Given the description of an element on the screen output the (x, y) to click on. 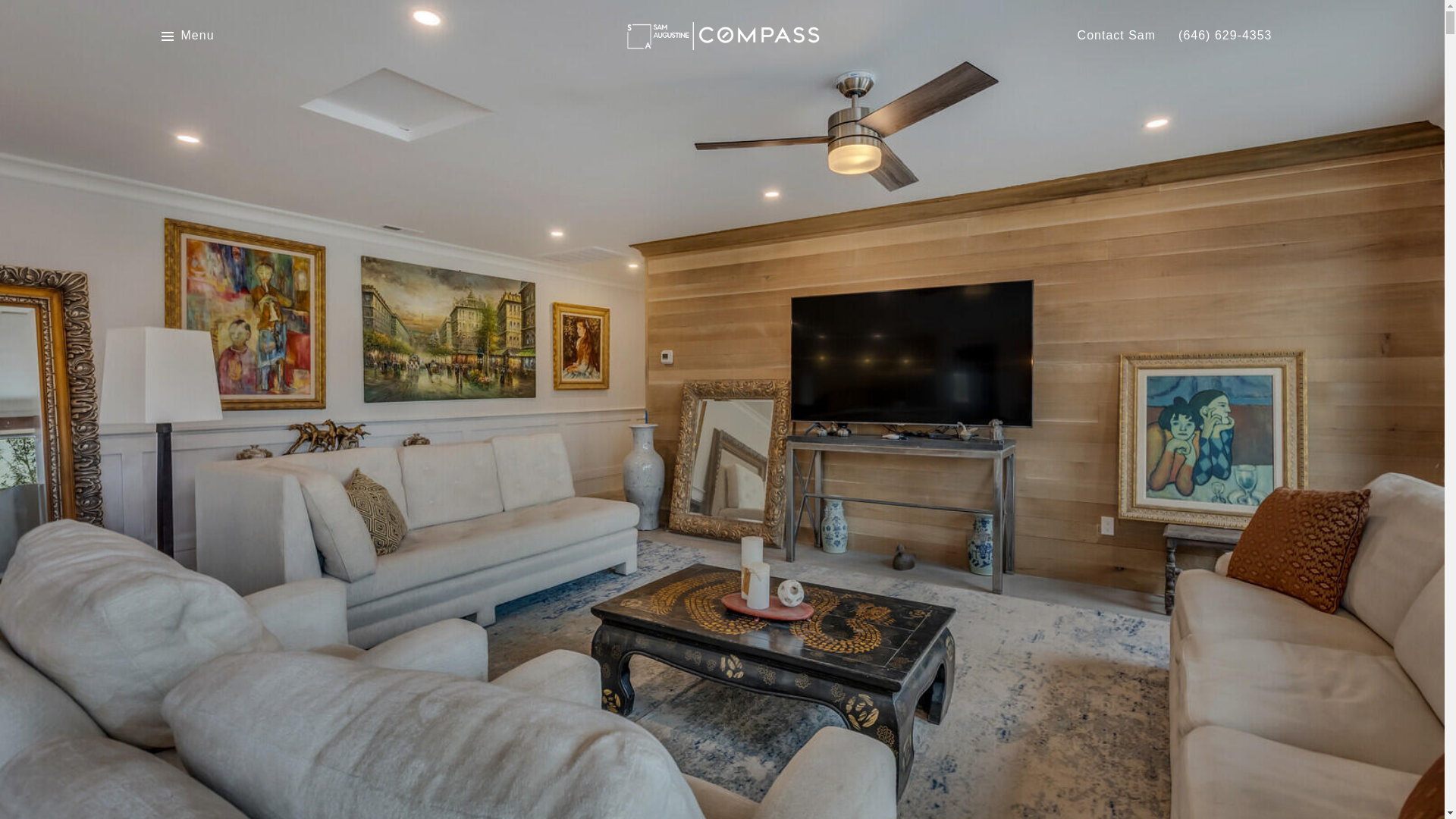
Contact Sam (1116, 35)
Menu (187, 35)
Menu (197, 35)
